Given the description of an element on the screen output the (x, y) to click on. 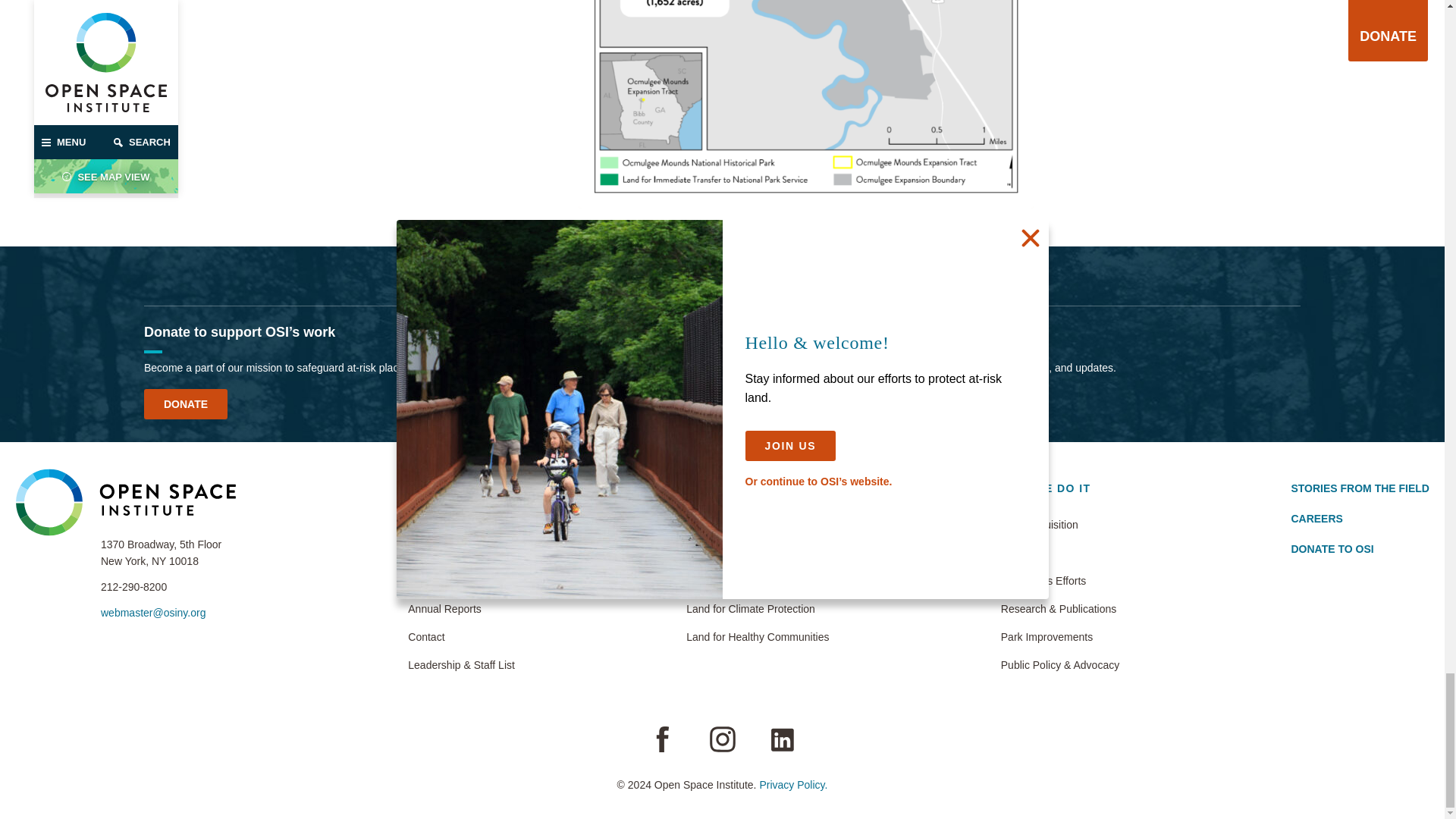
Annual Reports (461, 608)
Land Acquisition (1060, 524)
Contact (461, 636)
Open Space Institute (124, 501)
Land for Clean Water (756, 580)
DONATE (185, 404)
SUBSCRIBE (780, 404)
WHO WE ARE (448, 492)
Land for Habitat (756, 552)
Land for Healthy Communities (756, 636)
